Given the description of an element on the screen output the (x, y) to click on. 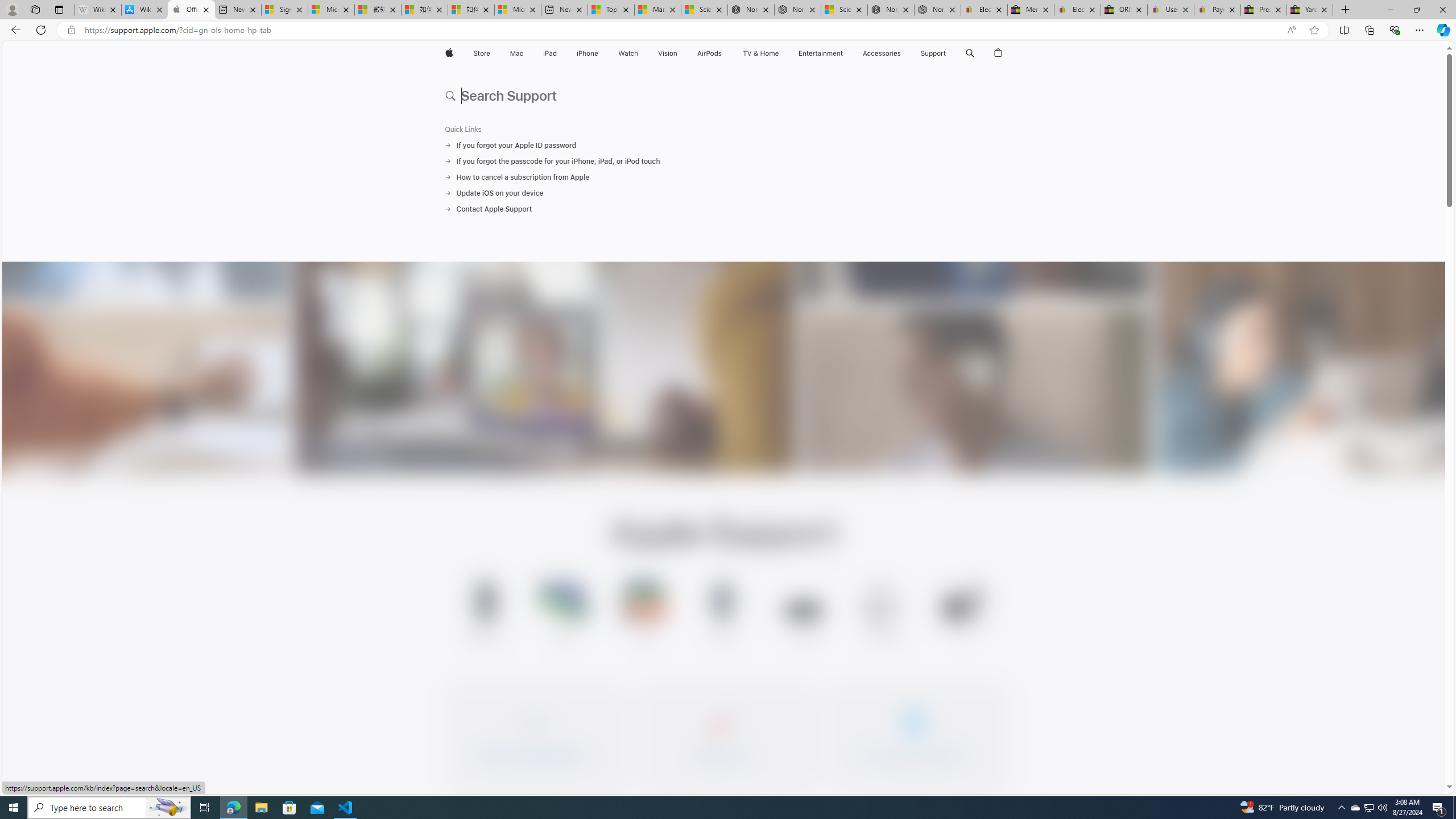
Support menu (948, 53)
Store menu (492, 53)
iPad (550, 53)
Contact Apple Support (723, 209)
How to cancel a subscription from Apple (723, 177)
Shopping Bag (998, 53)
iPhone Support (484, 612)
Nordace - FAQ (937, 9)
